Given the description of an element on the screen output the (x, y) to click on. 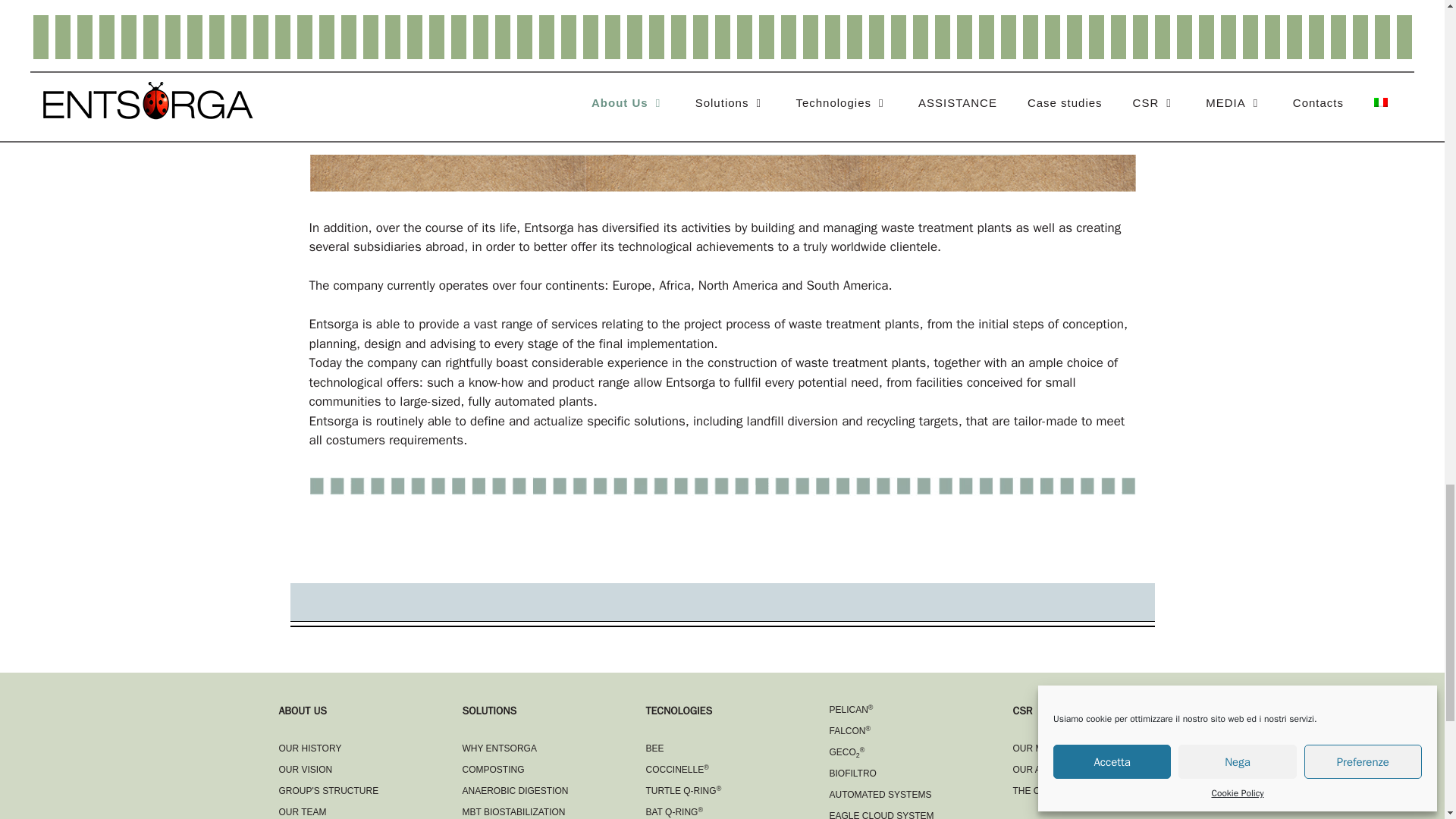
MBT biostabilization (514, 811)
our vision (306, 769)
composting (493, 769)
OUR HISTORY (310, 747)
Our team (302, 811)
OUR HISTORY 2 (721, 486)
why entsorga (500, 747)
anaerobic digestion (516, 790)
group's structure (328, 790)
